Given the description of an element on the screen output the (x, y) to click on. 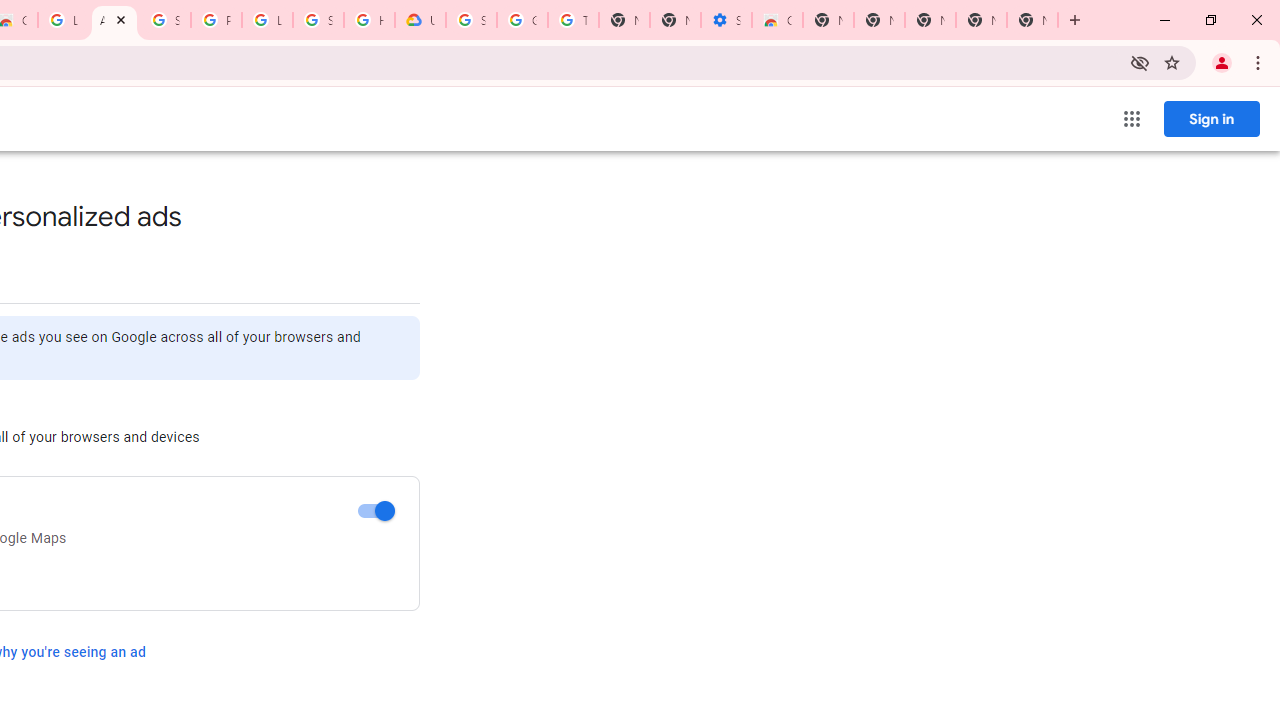
Turn cookies on or off - Computer - Google Account Help (573, 20)
Sign in - Google Accounts (470, 20)
Google Account Help (521, 20)
Settings - Accessibility (726, 20)
Personalized ads on Google (376, 511)
